Given the description of an element on the screen output the (x, y) to click on. 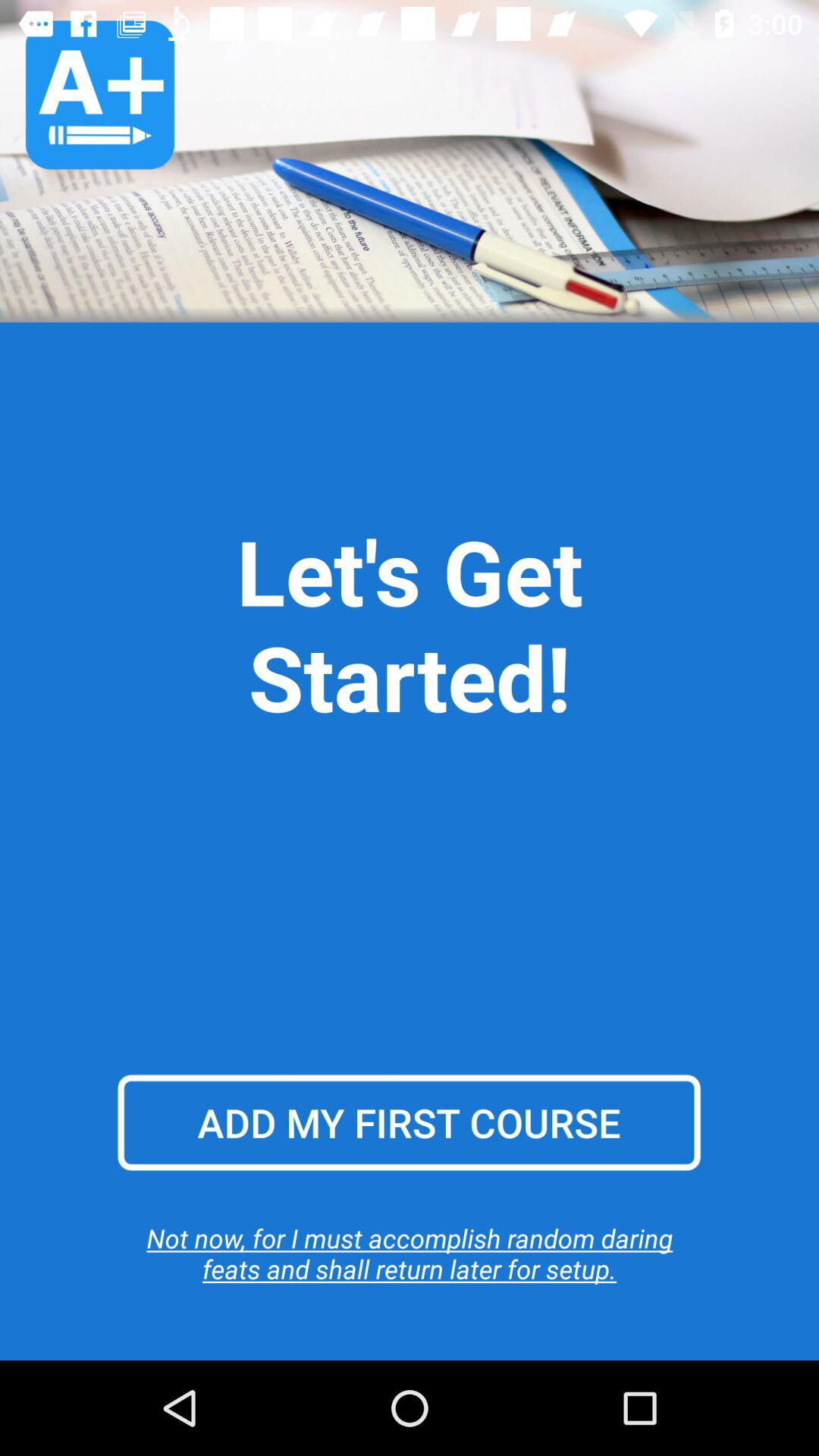
select the not now for (409, 1253)
